Given the description of an element on the screen output the (x, y) to click on. 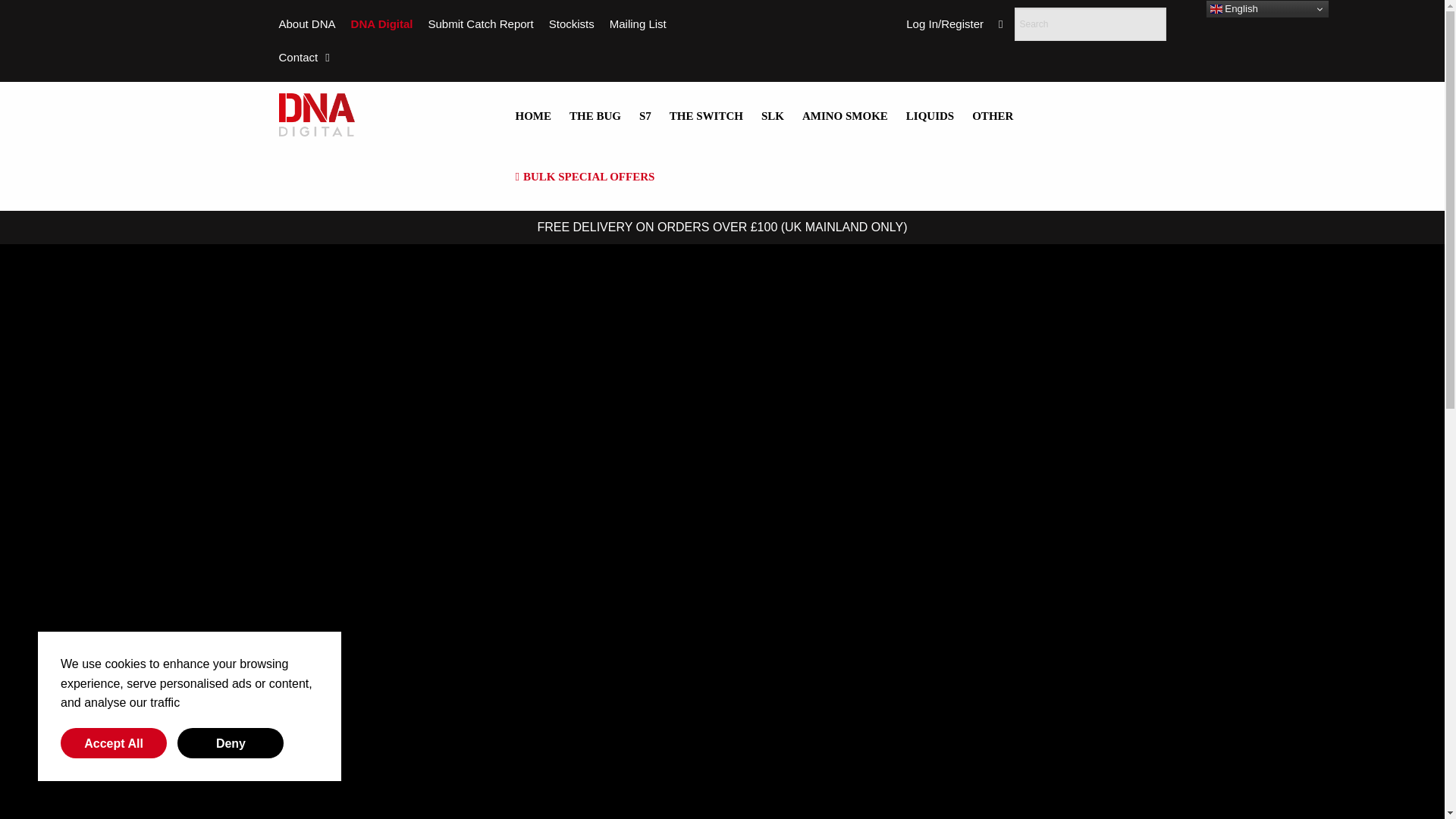
About DNA (307, 23)
THE SWITCH (706, 115)
S7 (645, 115)
Submit Catch Report (480, 23)
Mailing List (638, 23)
Contact (304, 57)
DNA Digital (381, 23)
HOME (533, 115)
Stockists (571, 23)
THE BUG (595, 115)
